Given the description of an element on the screen output the (x, y) to click on. 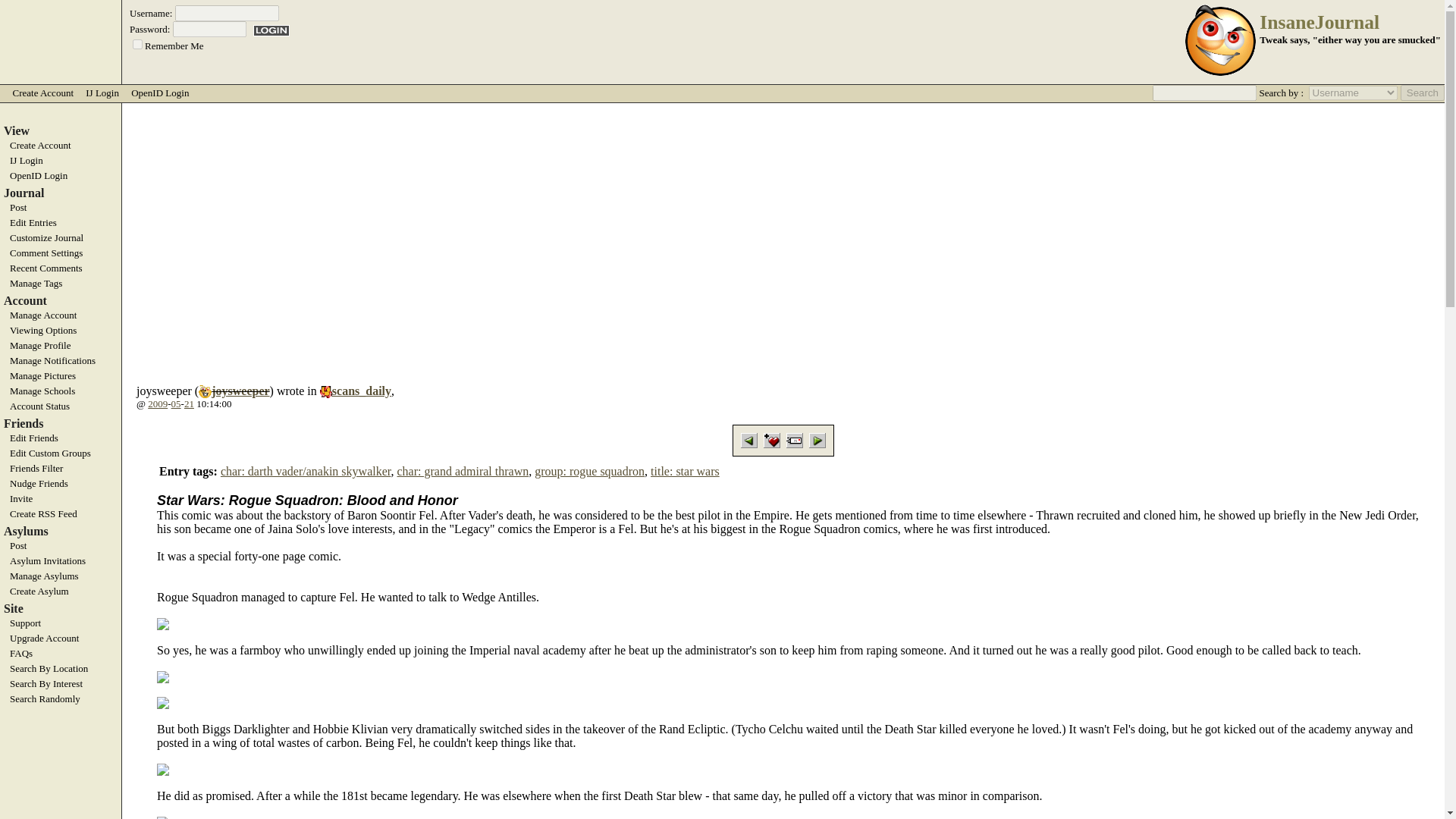
Invite (60, 499)
Post (60, 207)
Create Account (42, 93)
Create RSS Feed (60, 513)
IJ Login (60, 160)
Support (60, 623)
Nudge Friends (60, 483)
Edit Friends (60, 438)
1 (137, 44)
Create Account (60, 145)
Search By Location (60, 668)
Manage Pictures (60, 376)
Previous Entry (749, 440)
IJ Login (102, 93)
OpenID Login (60, 175)
